Given the description of an element on the screen output the (x, y) to click on. 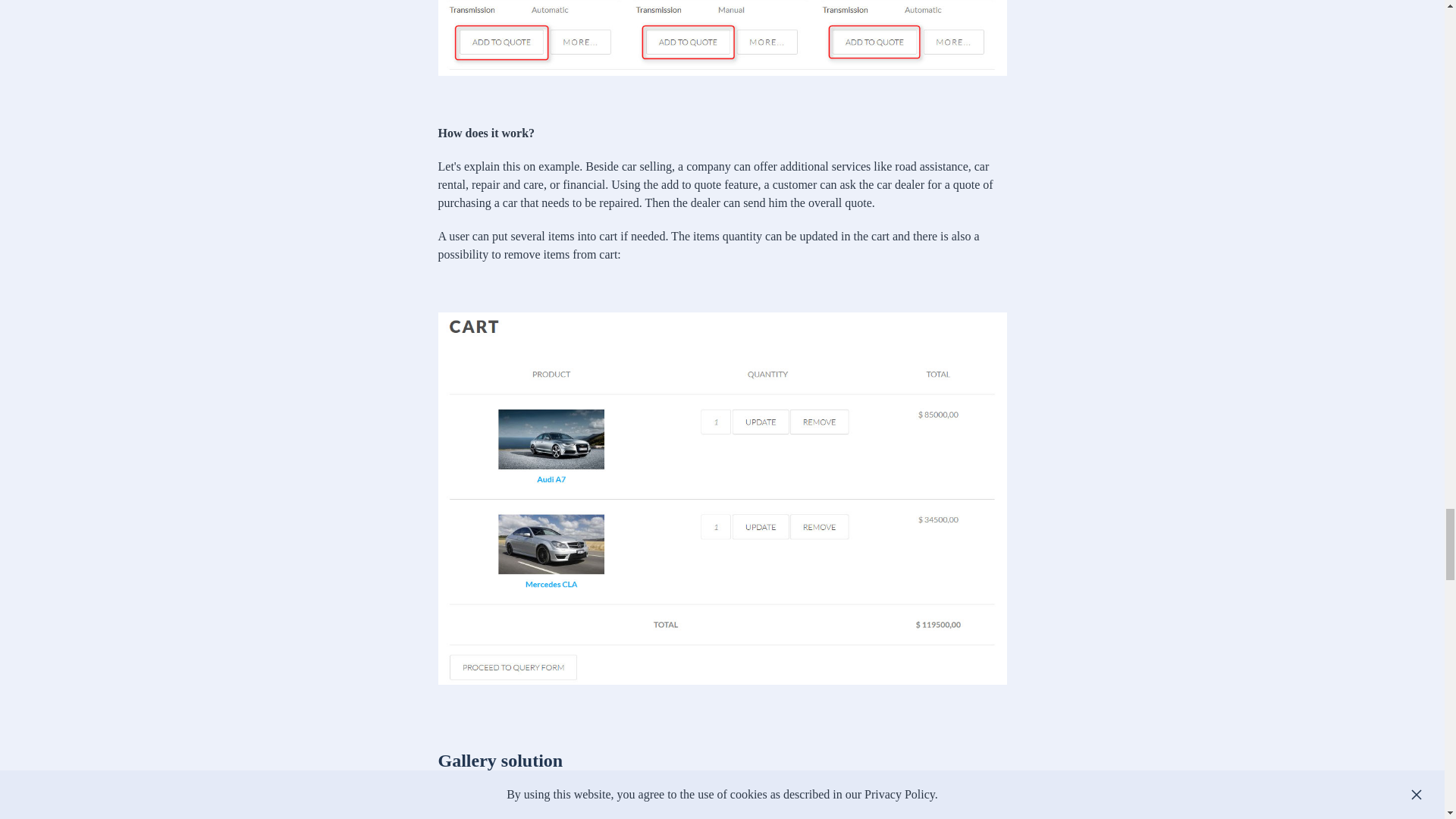
DJ-MediaTools (475, 797)
DJ-MediaTools (475, 797)
